Given the description of an element on the screen output the (x, y) to click on. 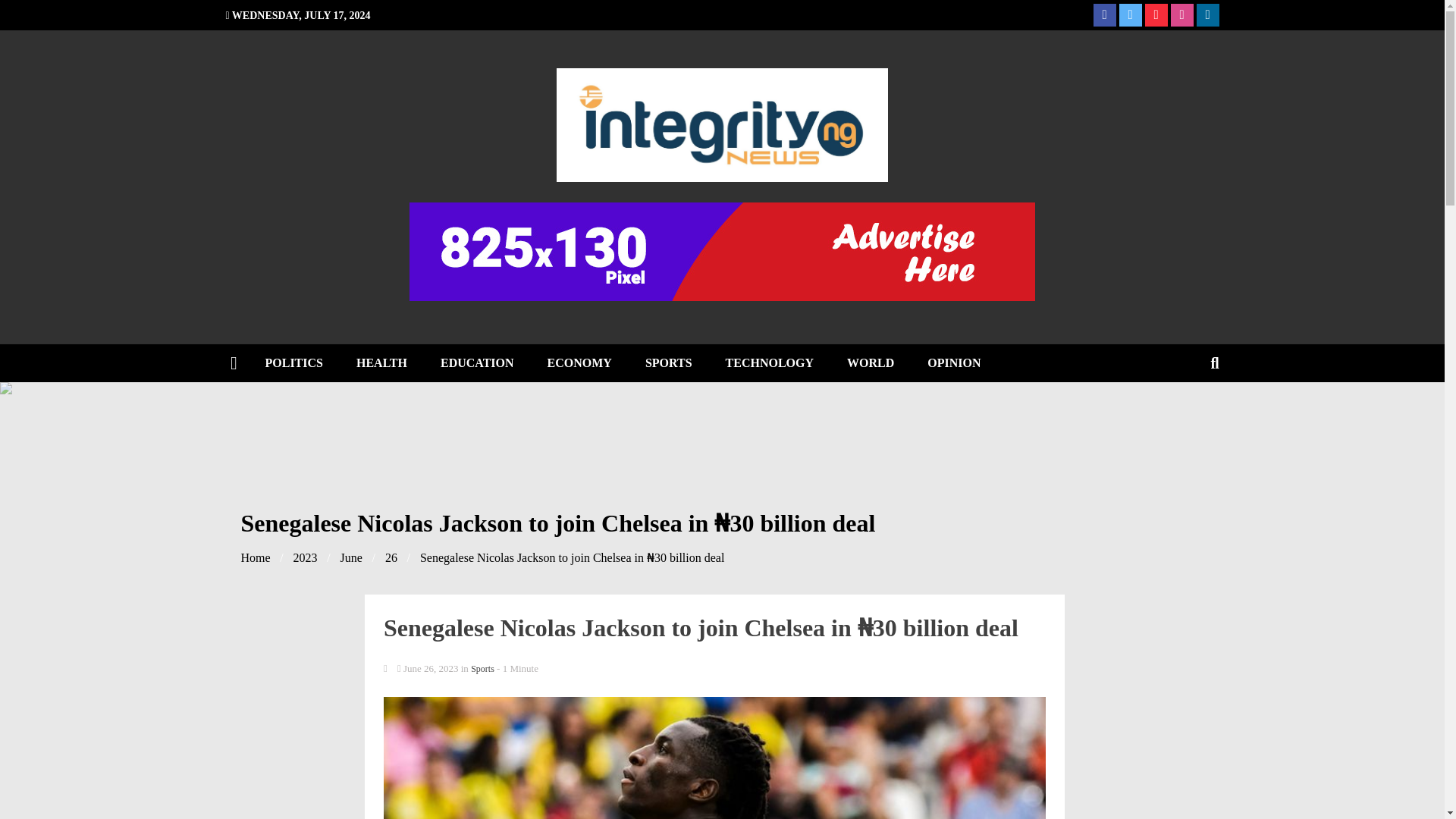
POLITICS (293, 362)
HEALTH (381, 362)
Estimated Reading Time of Article (517, 668)
WORLD (869, 362)
OPINION (953, 362)
SPORTS (668, 362)
ECONOMY (579, 362)
EDUCATION (477, 362)
TECHNOLOGY (769, 362)
